Given the description of an element on the screen output the (x, y) to click on. 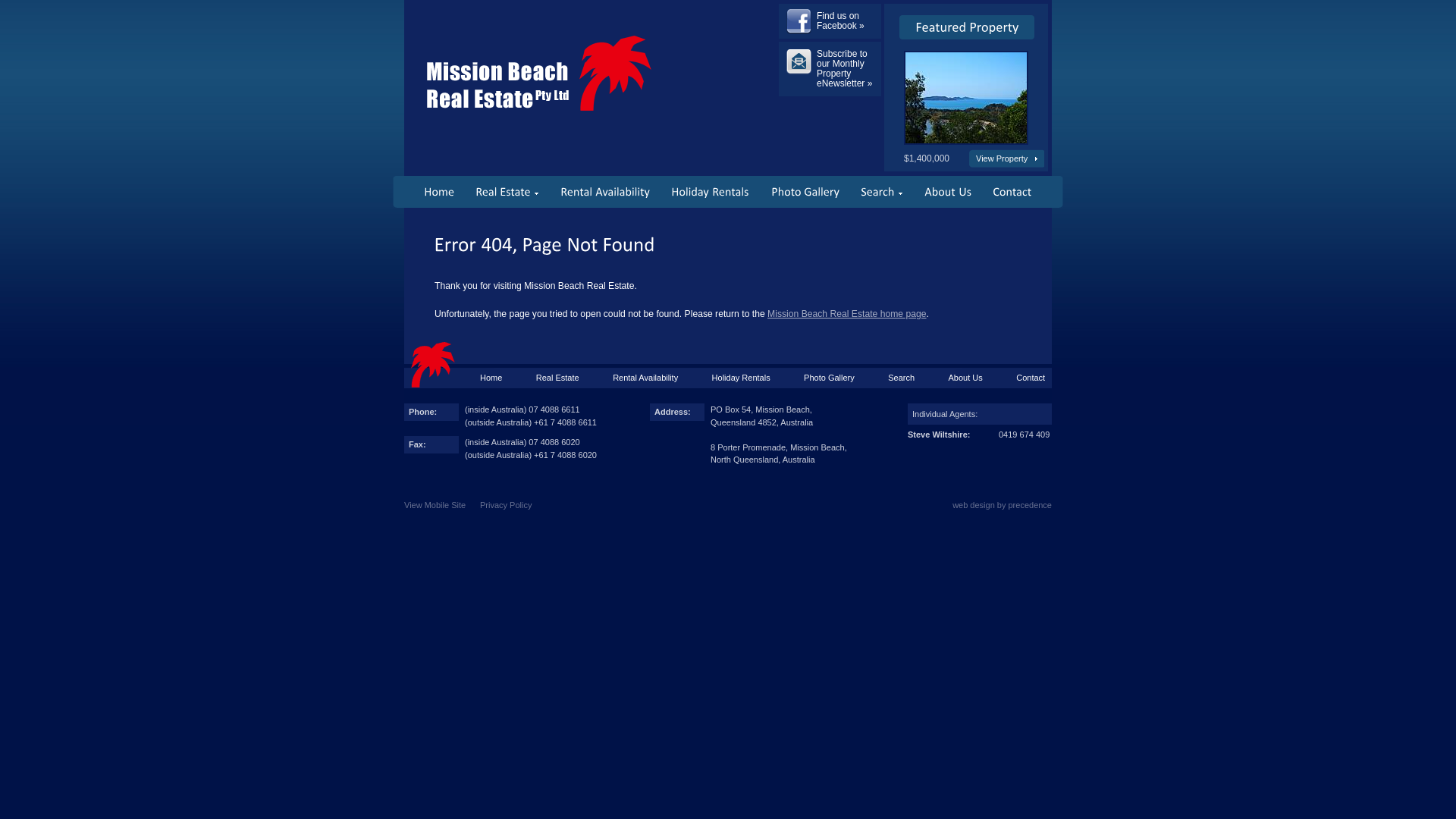
Home Element type: text (491, 377)
Photo Gallery Element type: text (828, 377)
Featured Property Element type: hover (965, 140)
Mission Beach Real Estate home page Element type: text (846, 313)
About Us Element type: hover (947, 191)
About Us Element type: text (965, 377)
Contact Element type: hover (1011, 191)
Home Element type: hover (439, 191)
Real Estate Element type: text (557, 377)
web design by precedence Element type: text (1001, 504)
View Property Element type: text (1006, 158)
Privacy Policy Element type: text (505, 504)
Real Estate Element type: hover (506, 191)
Search Element type: text (901, 377)
Contact Element type: text (1030, 377)
Holiday Rentals Element type: text (741, 377)
Rental Availability Element type: text (644, 377)
View Mobile Site Element type: text (434, 504)
